Given the description of an element on the screen output the (x, y) to click on. 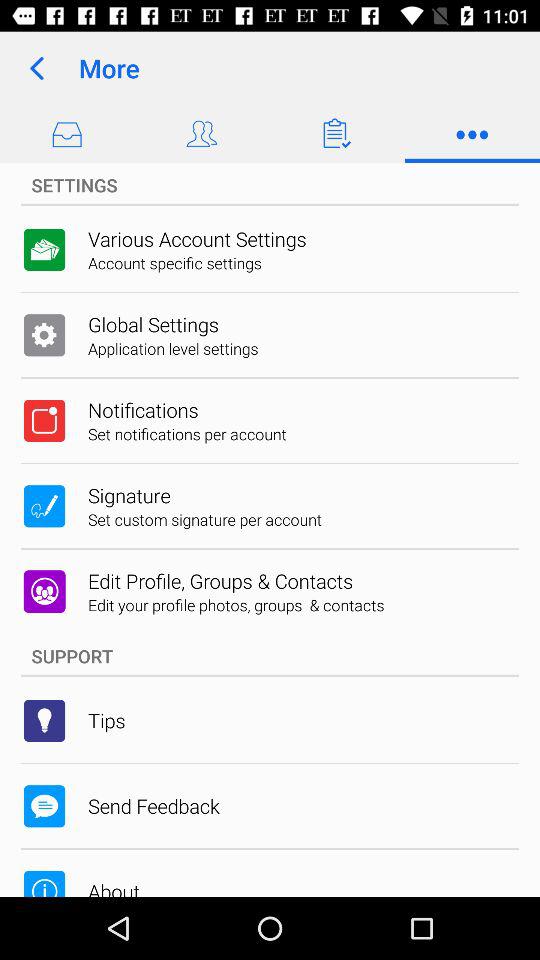
turn off the item above the send feedback icon (106, 720)
